Given the description of an element on the screen output the (x, y) to click on. 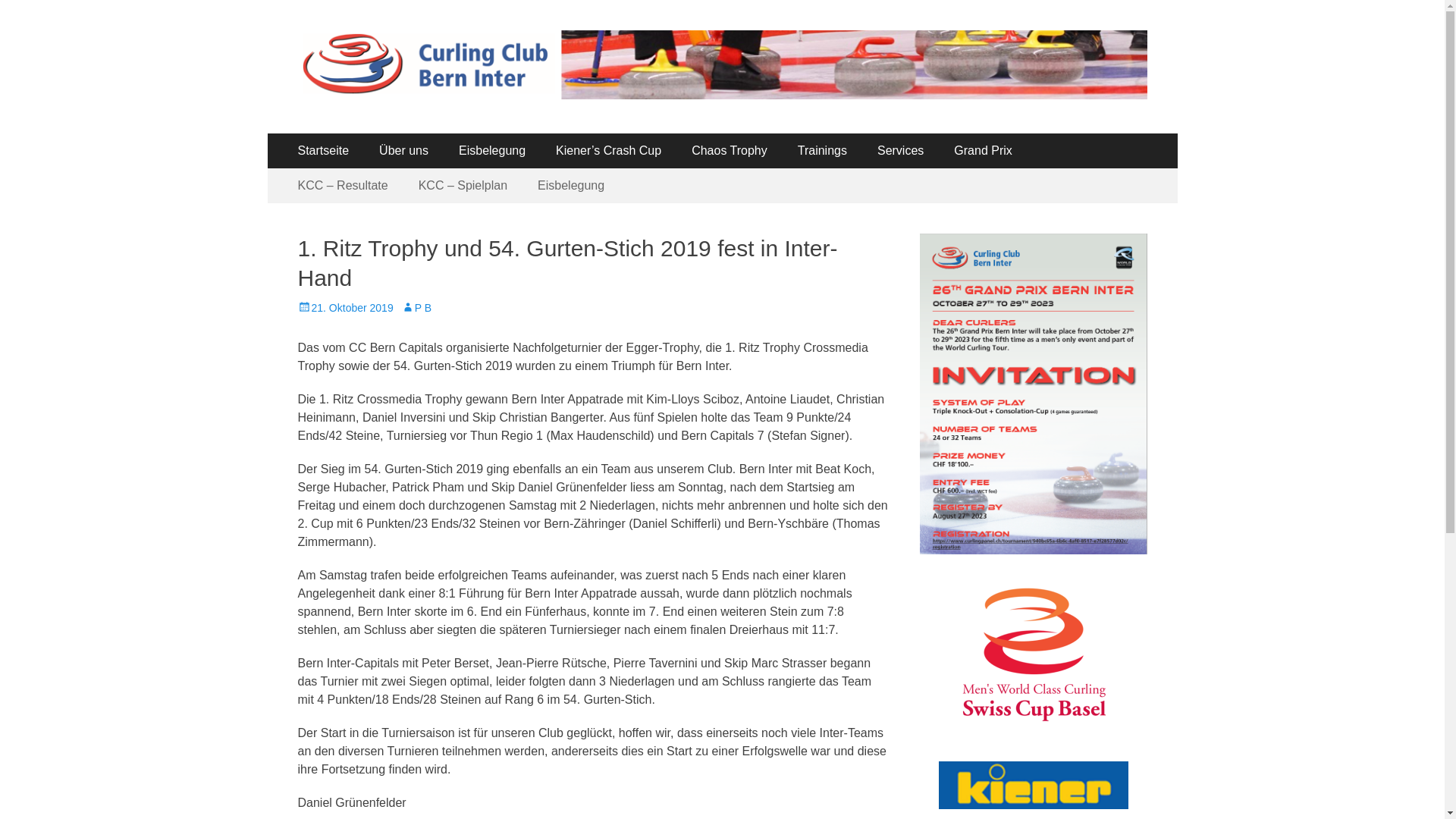
Chaos Trophy Element type: text (729, 150)
Eisbelegung Element type: text (491, 150)
21. Oktober 2019 Element type: text (344, 307)
Services Element type: text (900, 150)
Eisbelegung Element type: text (570, 185)
Trainings Element type: text (822, 150)
Startseite Element type: text (323, 150)
P B Element type: text (416, 307)
Carrosserie Kiener AG Element type: hover (1033, 804)
Grand Prix Element type: text (982, 150)
